Given the description of an element on the screen output the (x, y) to click on. 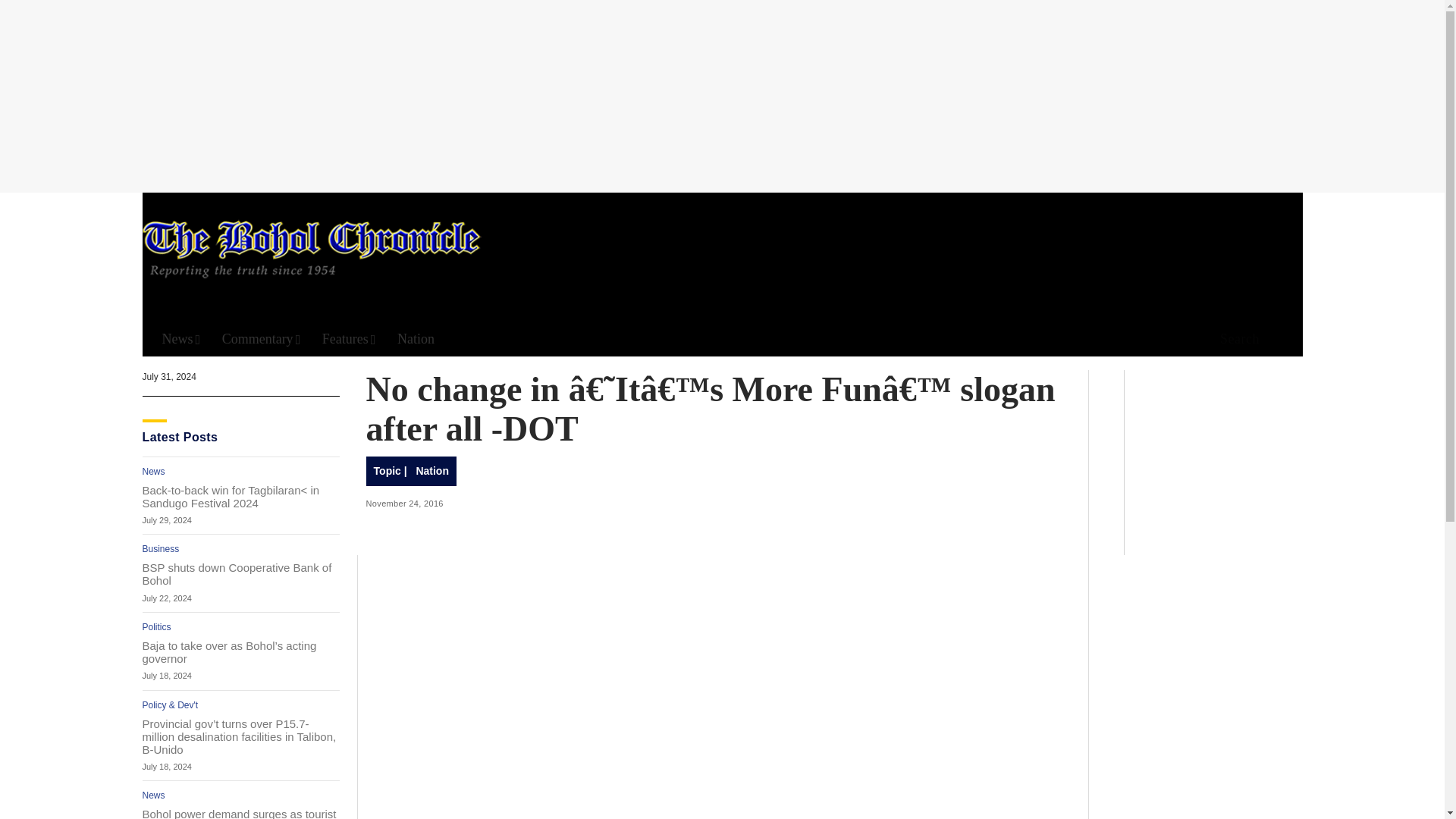
Politics (156, 626)
Nation (415, 339)
Search (1234, 339)
News (180, 339)
BSP shuts down Cooperative Bank of Bohol (240, 574)
News (153, 795)
Search (946, 157)
Bohol power demand surges as tourist arrivals rise (240, 813)
Commentary (261, 339)
Features (348, 339)
Business (160, 548)
News (153, 471)
